Given the description of an element on the screen output the (x, y) to click on. 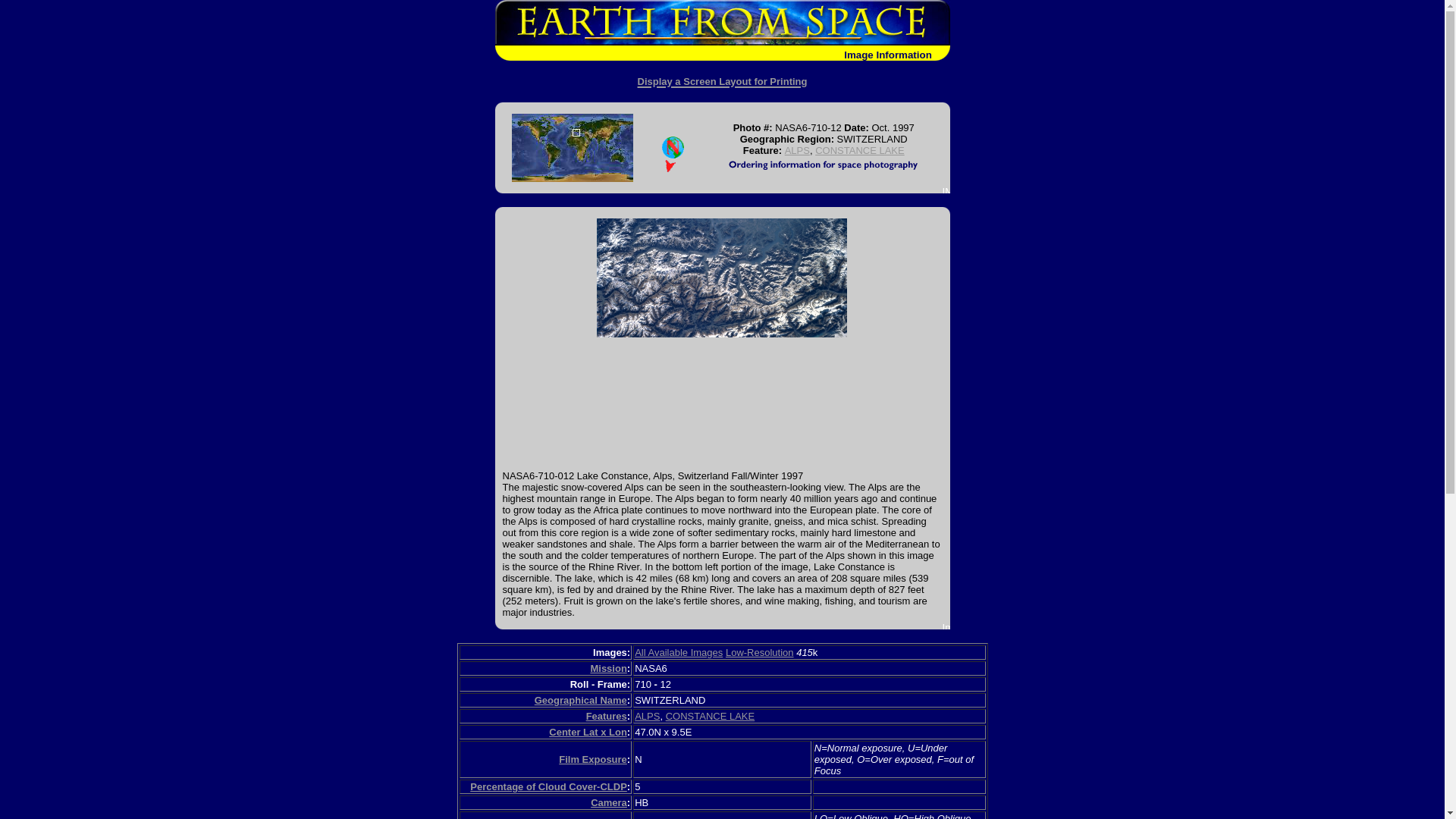
CONSTANCE LAKE (710, 715)
Features (606, 715)
ALPS (646, 715)
Center Lat x Lon (587, 731)
Low-Resolution (759, 652)
Display a Screen Layout for Printing (722, 78)
Camera (609, 802)
Search for other records with "CONSTANCE LAKE". (859, 150)
Mission (607, 668)
Search for other records with "CONSTANCE LAKE". (710, 715)
